Given the description of an element on the screen output the (x, y) to click on. 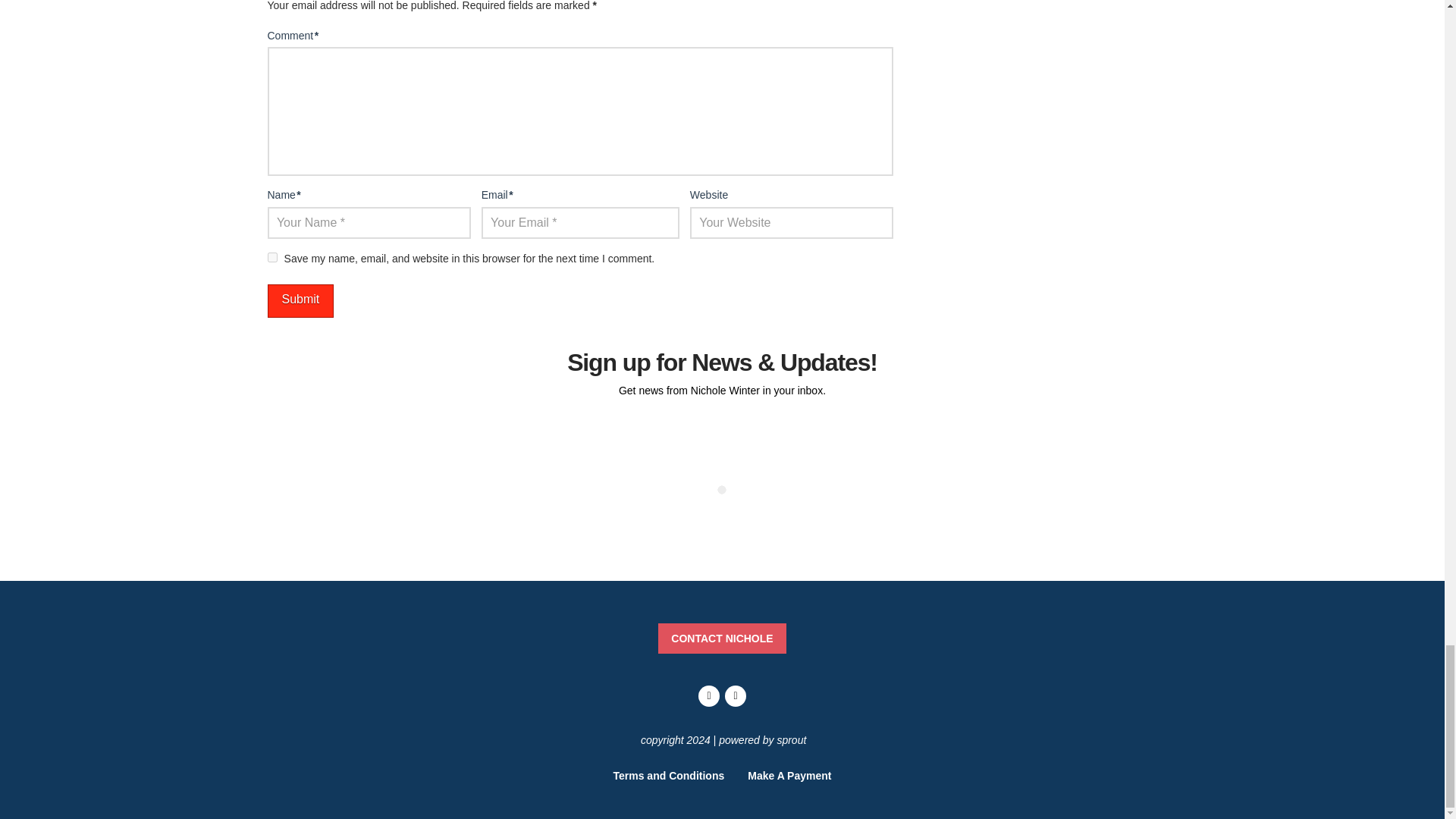
Make A Payment (789, 775)
Submit (299, 301)
yes (271, 257)
Terms and Conditions (668, 775)
CONTACT NICHOLE (722, 638)
Submit (299, 301)
powered by sprout (762, 739)
